Given the description of an element on the screen output the (x, y) to click on. 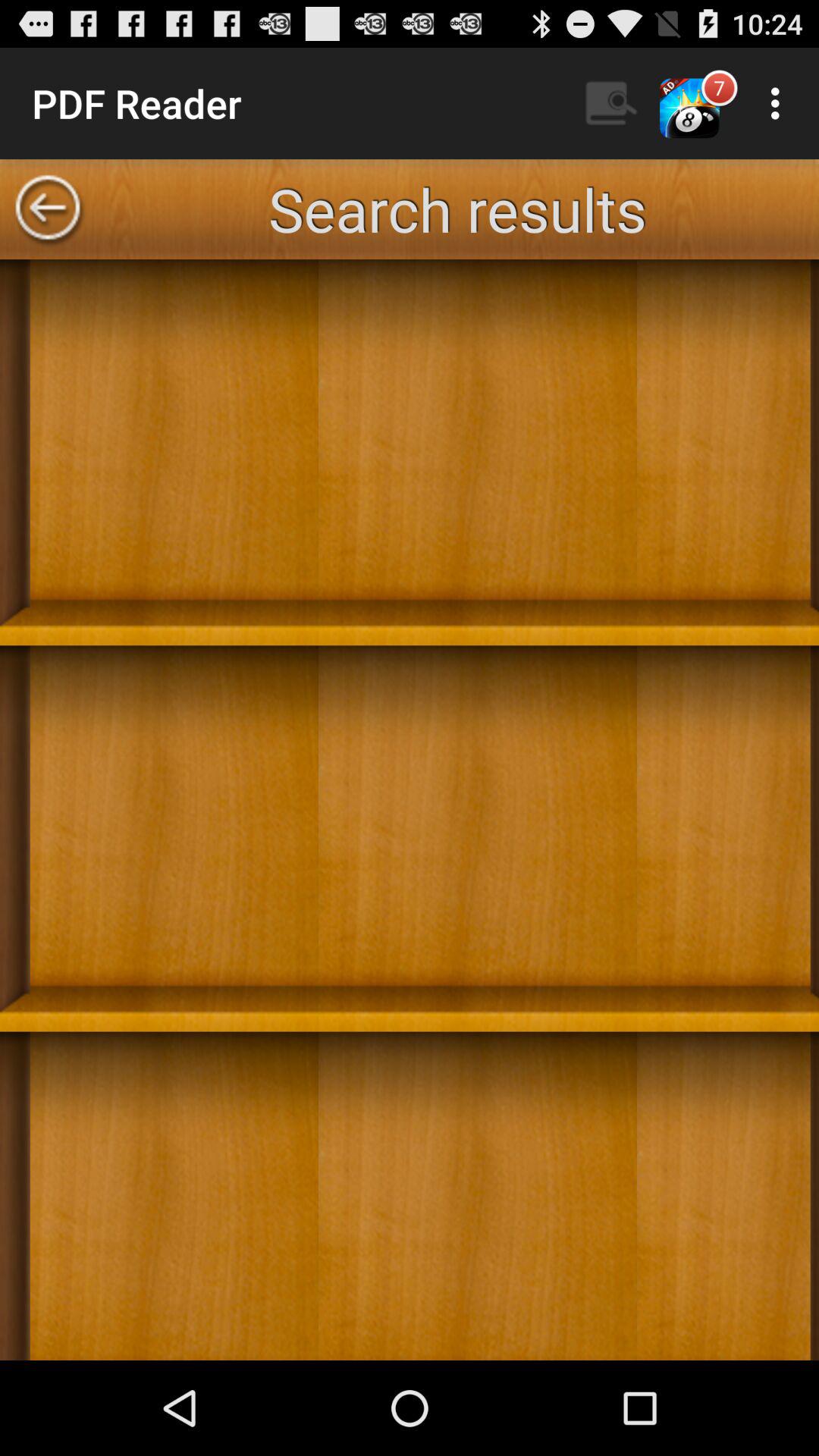
turn off app next to the pdf reader (611, 103)
